Given the description of an element on the screen output the (x, y) to click on. 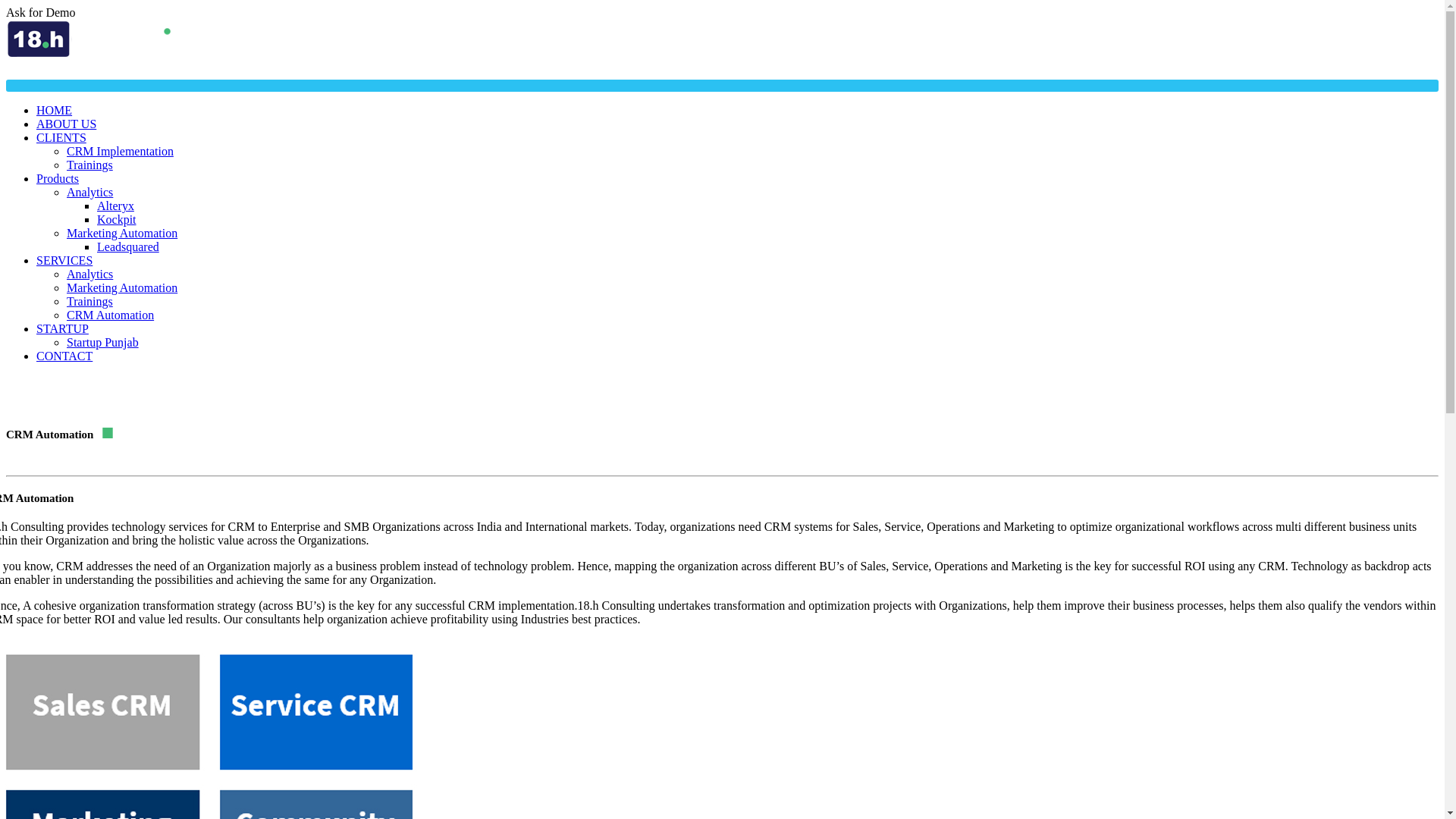
Products Element type: text (57, 178)
Alteryx Element type: text (115, 205)
CRM Automation Element type: text (109, 314)
Trainings Element type: text (89, 300)
Leadsquared Element type: text (128, 246)
Startup Punjab Element type: text (102, 341)
CRM Implementation Element type: text (119, 150)
Analytics Element type: text (89, 273)
HOME Element type: text (54, 109)
CONTACT Element type: text (64, 355)
ABOUT US Element type: text (66, 123)
Marketing Automation Element type: text (121, 232)
STARTUP Element type: text (62, 328)
Analytics Element type: text (89, 191)
CLIENTS Element type: text (61, 137)
Kockpit Element type: text (116, 219)
SERVICES Element type: text (64, 260)
Trainings Element type: text (89, 164)
Marketing Automation Element type: text (121, 287)
